Given the description of an element on the screen output the (x, y) to click on. 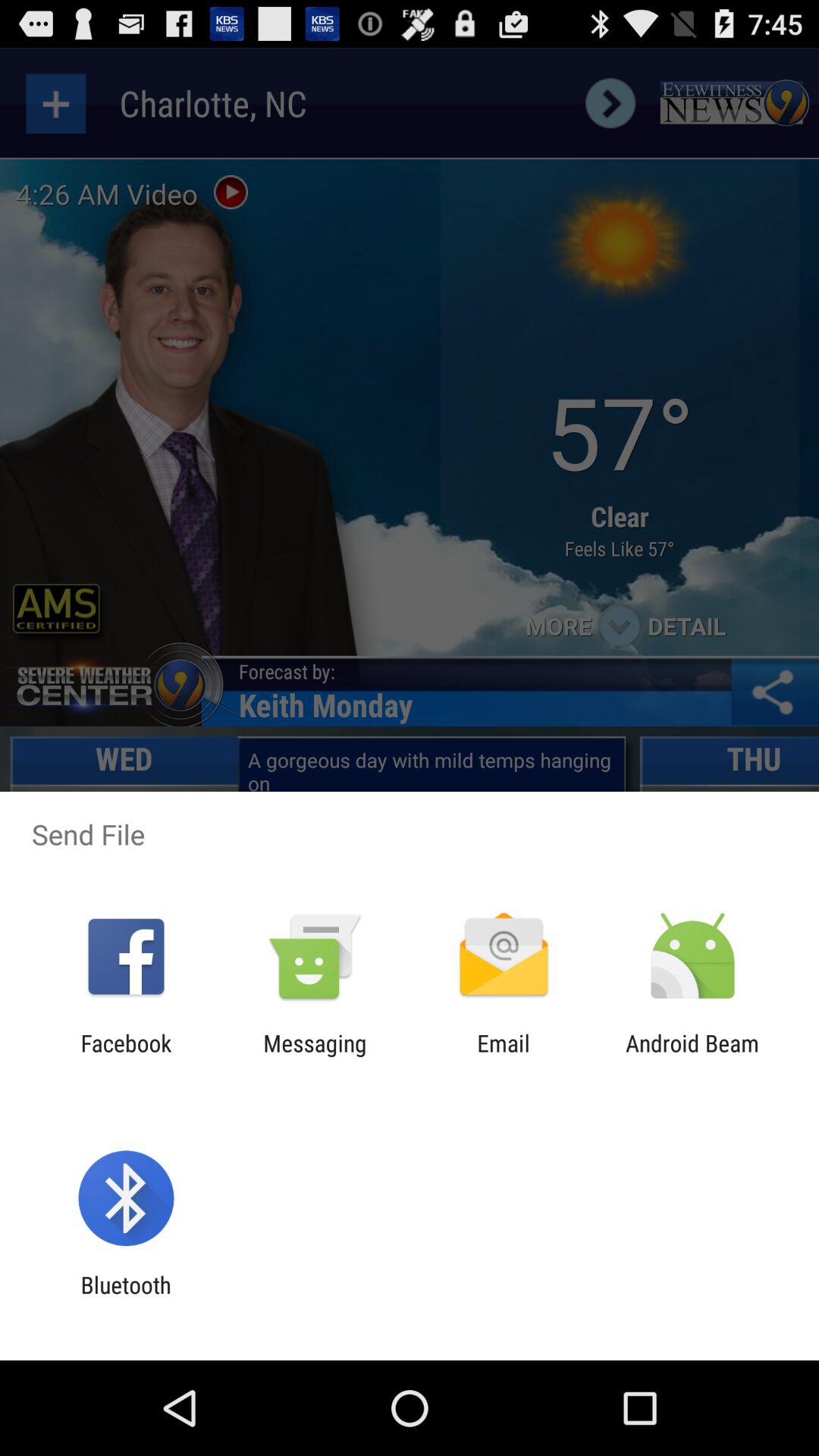
flip to the messaging app (314, 1056)
